Given the description of an element on the screen output the (x, y) to click on. 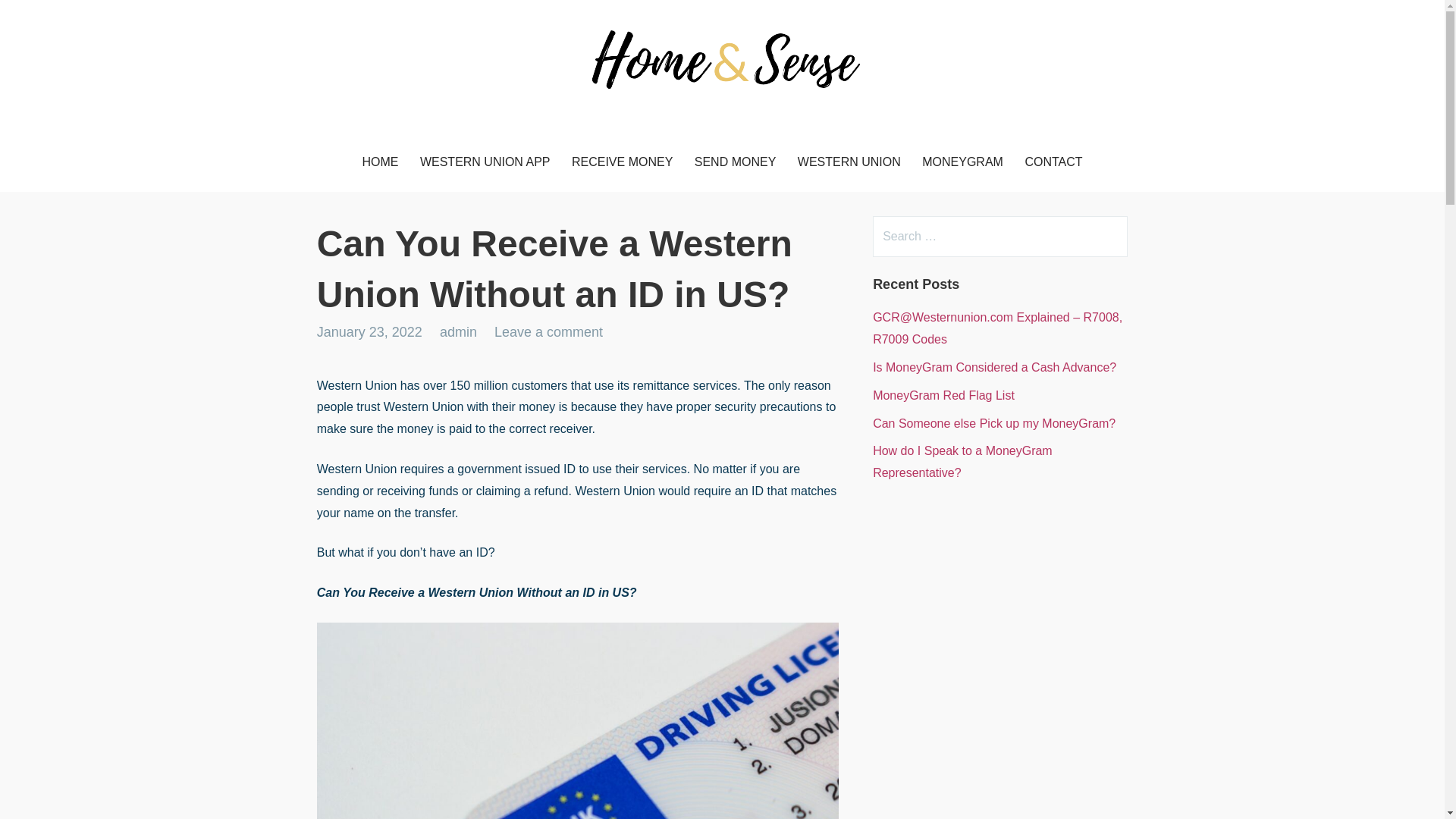
MoneyGram Red Flag List (943, 395)
HOME (379, 162)
How do I Speak to a MoneyGram Representative? (962, 461)
Leave a comment (548, 331)
WESTERN UNION (849, 162)
CONTACT (1052, 162)
WESTERN UNION APP (484, 162)
Posts by admin (458, 331)
SEND MONEY (735, 162)
Search (42, 18)
